Given the description of an element on the screen output the (x, y) to click on. 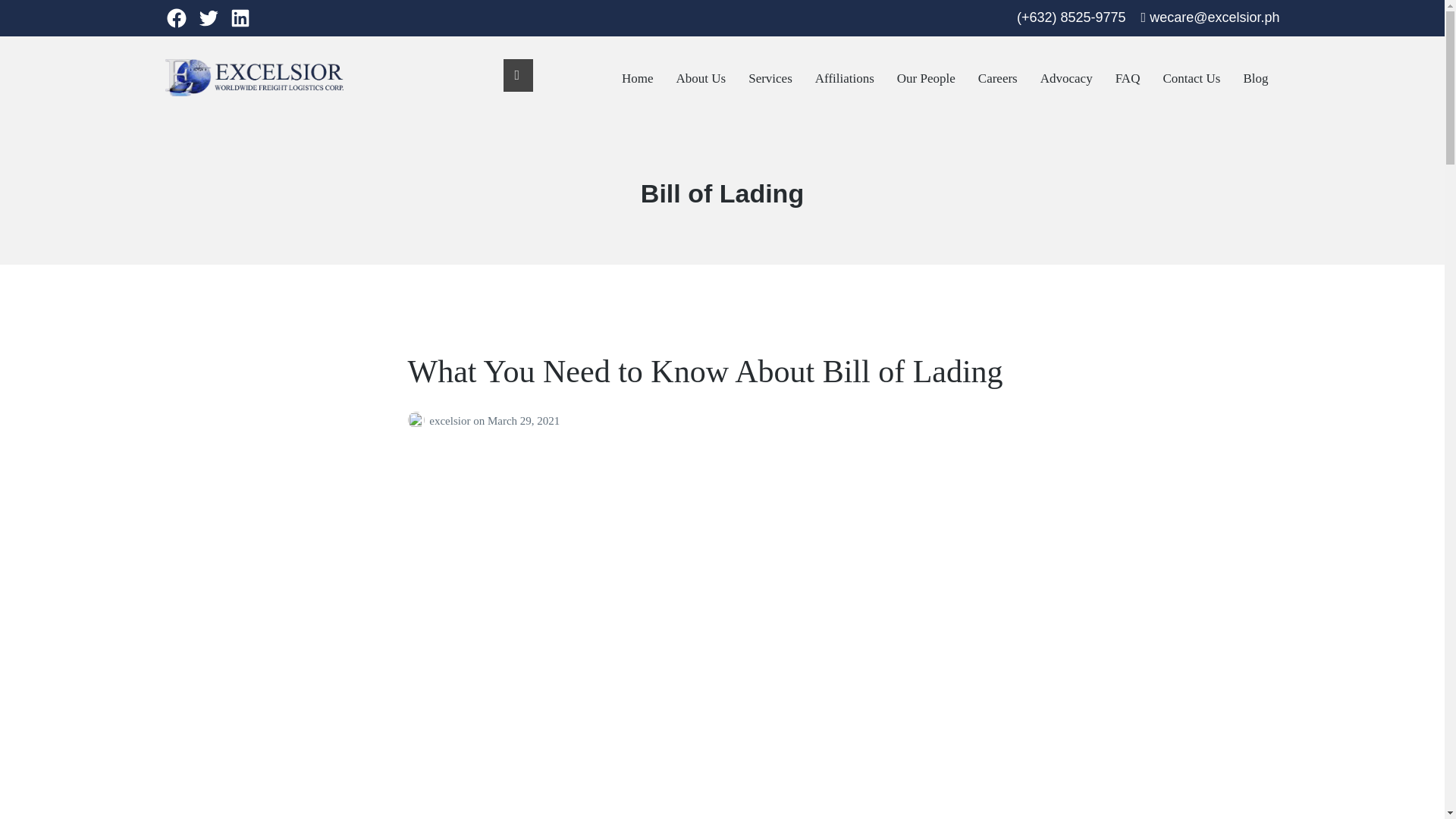
Home (637, 78)
Posts by excelsior (418, 420)
What You Need to Know About Bill of Lading (705, 371)
excelsior (451, 420)
About Us (701, 78)
Careers (997, 78)
Advocacy (1067, 78)
Services (770, 78)
Excelsior Worldwide Logistics Corp. (311, 107)
Blog (1255, 78)
Affiliations (845, 78)
Our People (925, 78)
Contact Us (1190, 78)
FAQ (1127, 78)
